Given the description of an element on the screen output the (x, y) to click on. 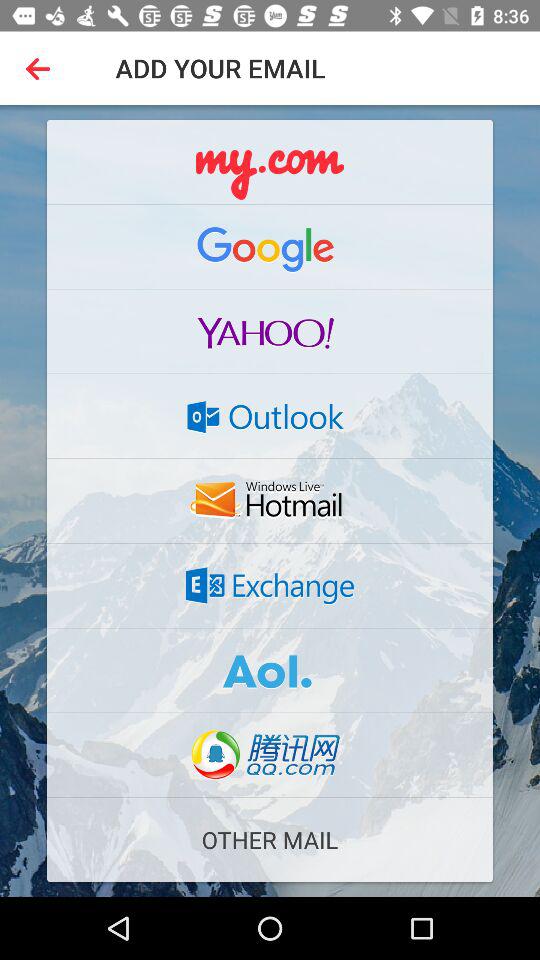
website link option (269, 755)
